Given the description of an element on the screen output the (x, y) to click on. 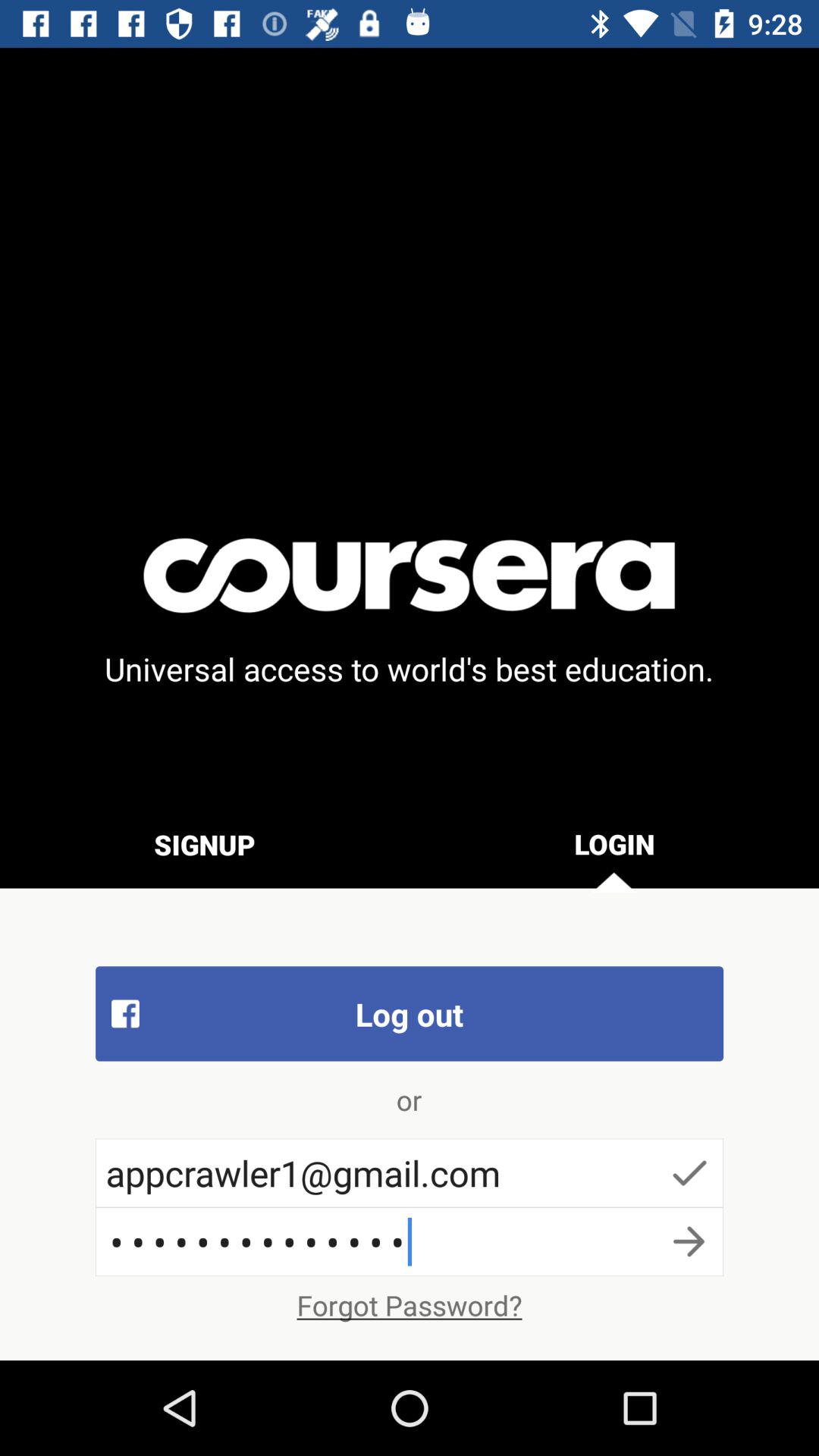
turn on icon above log out item (204, 844)
